Given the description of an element on the screen output the (x, y) to click on. 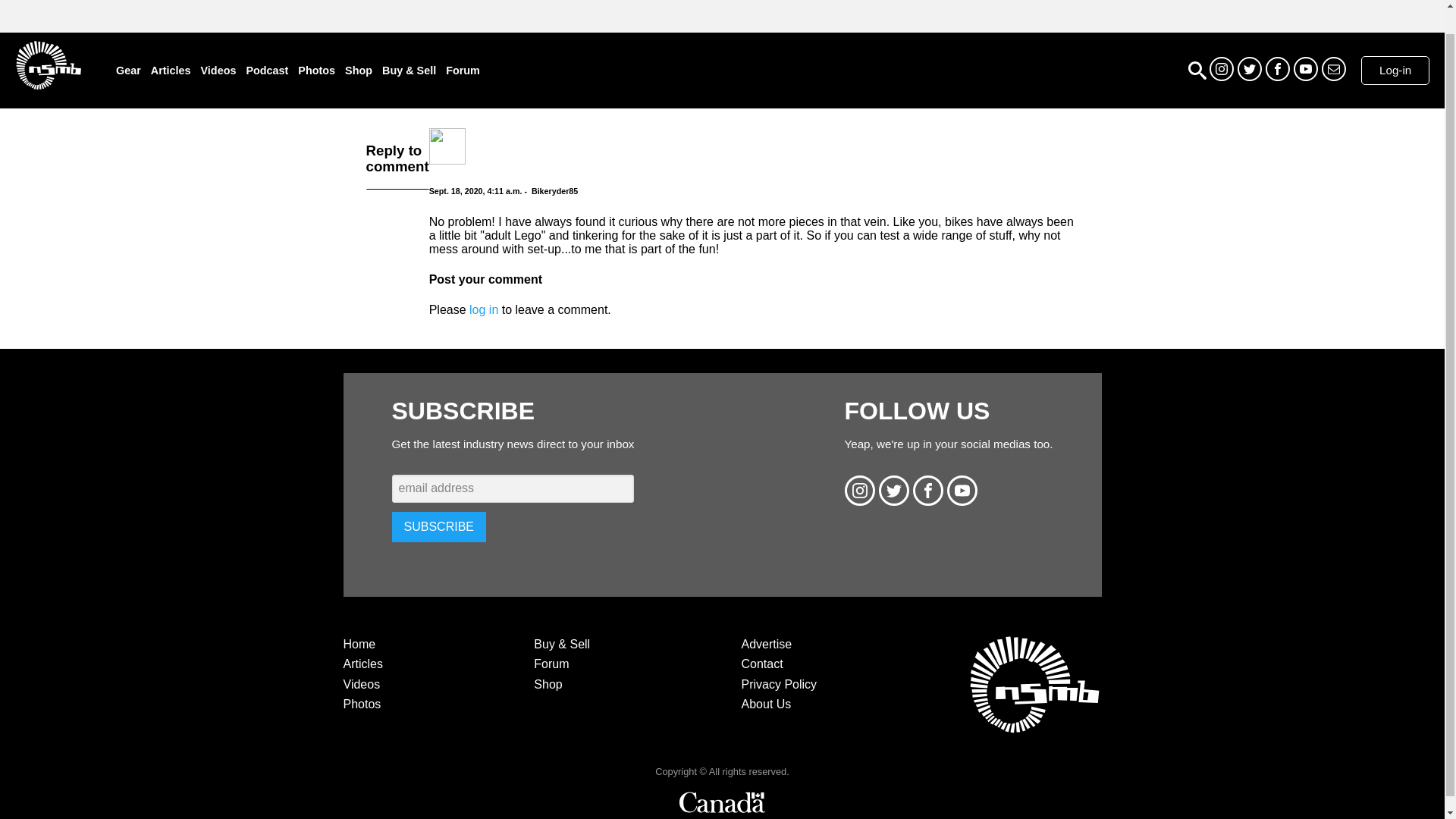
Twitter (1249, 68)
Instagram (1221, 68)
NSMB Home (47, 65)
Log-in (1395, 70)
Facebook (1277, 68)
Subscribe (1333, 68)
Gear (128, 70)
Youtube (1305, 68)
Subscribe (437, 526)
Search Toggle (1197, 70)
